Given the description of an element on the screen output the (x, y) to click on. 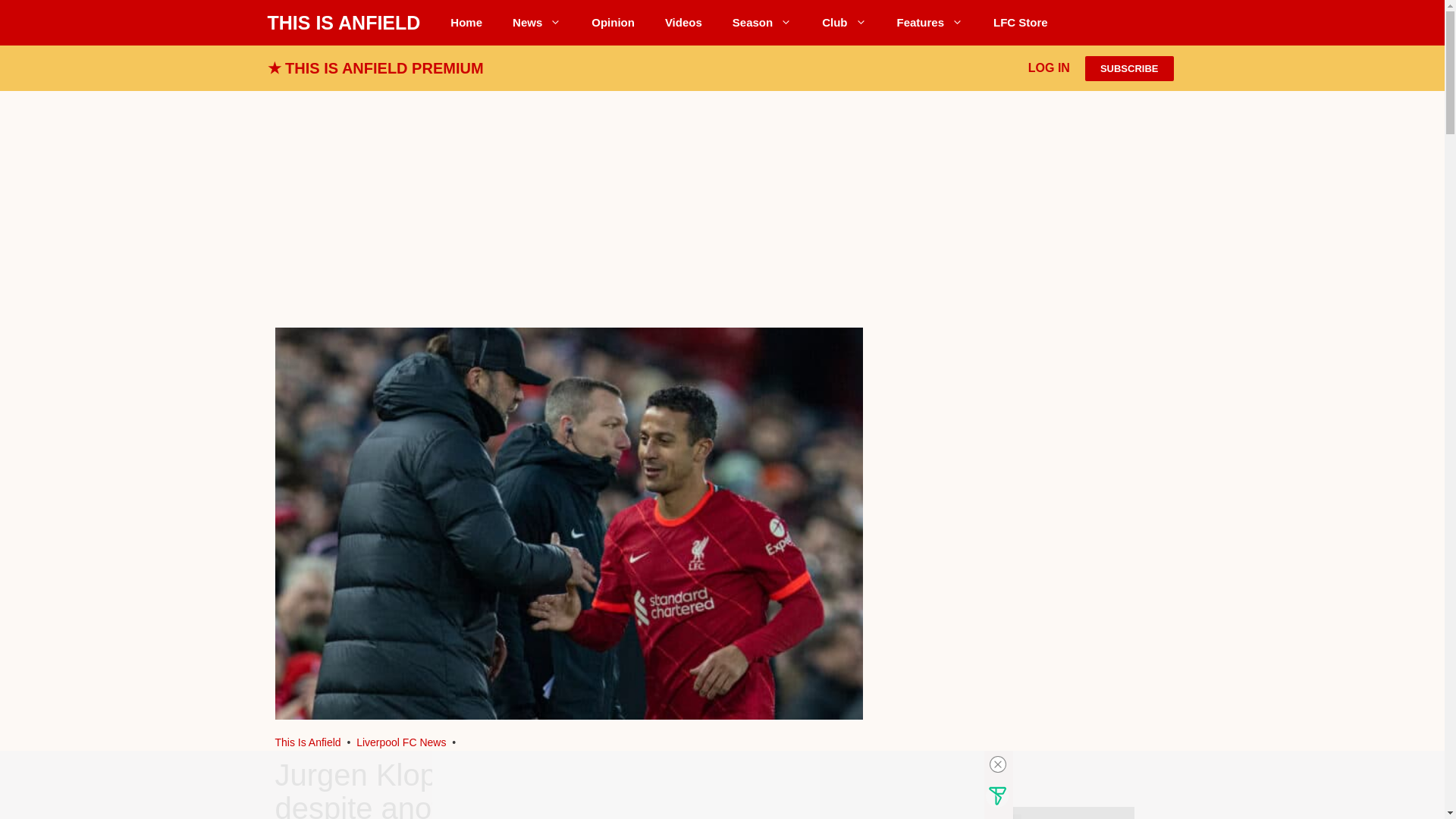
Home (466, 22)
Liverpool FC Features (929, 22)
News (536, 22)
Liverpool FC (307, 742)
Features (929, 22)
THIS IS ANFIELD (343, 22)
Liverpool FC Opinion (612, 22)
Season (761, 22)
Liverpool FC News (536, 22)
Opinion (612, 22)
Club (843, 22)
Go to the Liverpool FC News category archives. (400, 742)
Videos (683, 22)
Liverpool FC Videos (683, 22)
